Given the description of an element on the screen output the (x, y) to click on. 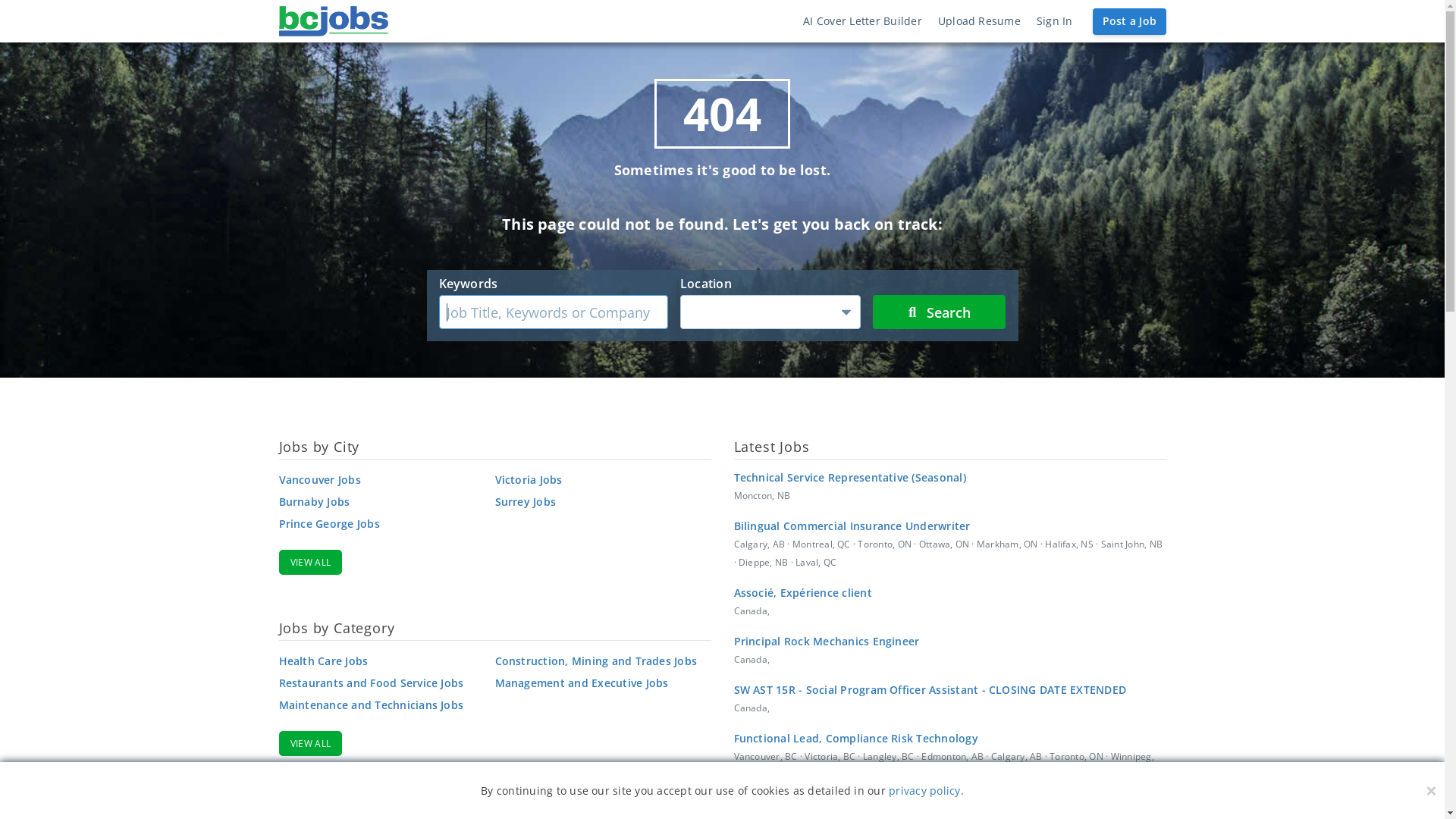
Construction, Mining and Trades Jobs Element type: text (596, 660)
Restaurants and Food Service Jobs Element type: text (381, 682)
Burnaby Jobs Element type: text (381, 501)
Principal Rock Mechanics Engineer Element type: text (950, 641)
VIEW ALL Element type: text (310, 743)
Technical Service Representative (Seasonal) Element type: text (950, 477)
Bilingual Commercial Insurance Underwriter Element type: text (950, 526)
Functional Lead, Compliance Risk Technology Element type: text (950, 738)
Management and Executive Jobs Element type: text (596, 682)
privacy policy Element type: text (924, 789)
Post a Job Element type: text (1128, 20)
Upload Resume Element type: text (978, 21)
Sign In Element type: text (1054, 21)
Health Care Jobs Element type: text (381, 660)
Maintenance and Technicians Jobs Element type: text (381, 704)
Victoria Jobs Element type: text (596, 479)
Search Element type: text (938, 311)
Surrey Jobs Element type: text (596, 501)
Vancouver Jobs Element type: text (381, 479)
AI Cover Letter Builder Element type: text (862, 21)
VIEW ALL Element type: text (310, 561)
Prince George Jobs Element type: text (381, 523)
